Given the description of an element on the screen output the (x, y) to click on. 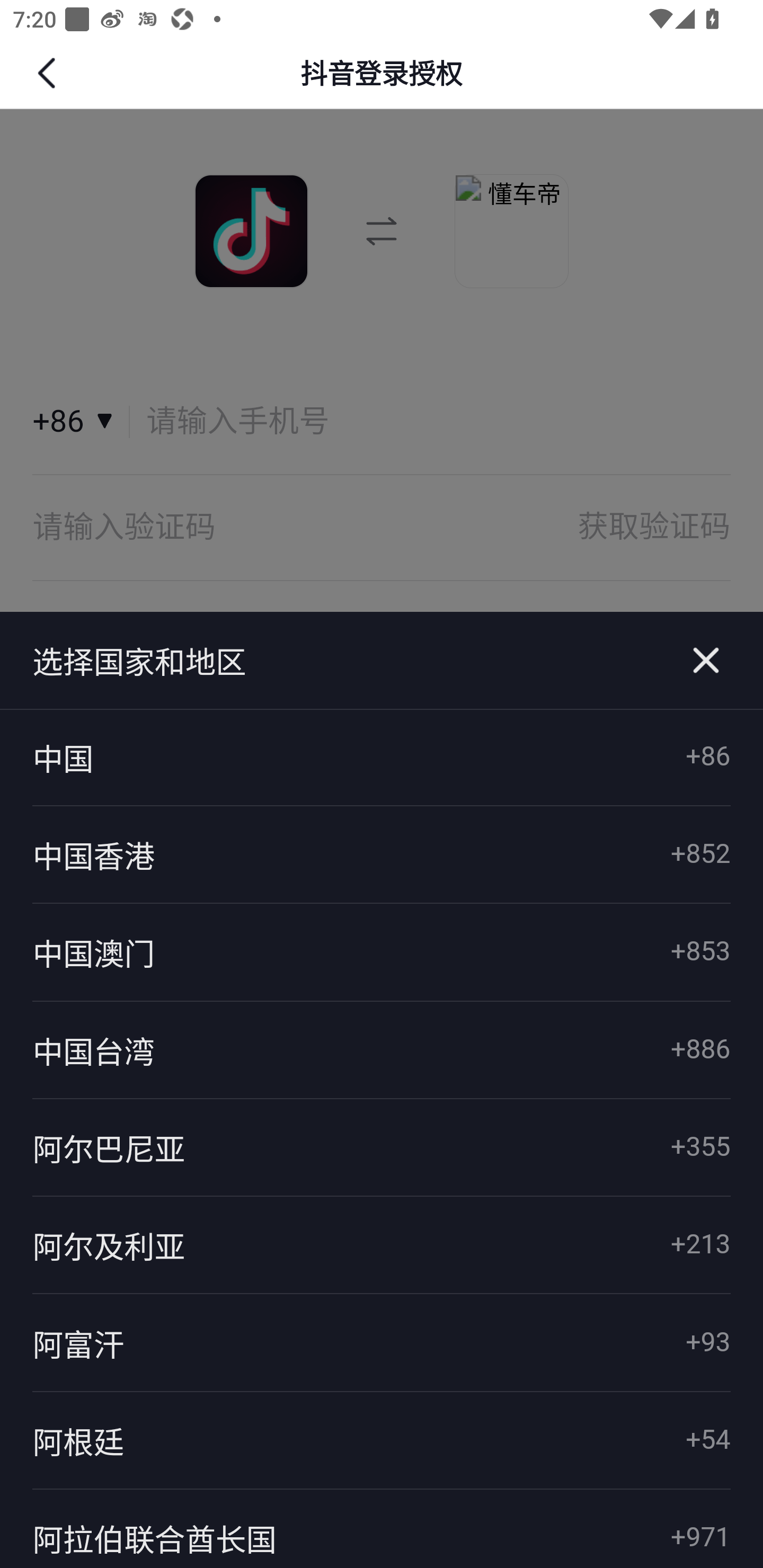
返回 (49, 72)
一键授权 (381, 658)
关闭 (705, 660)
中国+86 (381, 757)
中国香港+852 (381, 854)
中国澳门+853 (381, 952)
中国台湾+886 (381, 1049)
阿尔巴尼亚+355 (381, 1147)
阿尔及利亚+213 (381, 1245)
阿富汗+93 (381, 1343)
阿根廷+54 (381, 1440)
阿拉伯联合酋长国+971 (381, 1528)
